Given the description of an element on the screen output the (x, y) to click on. 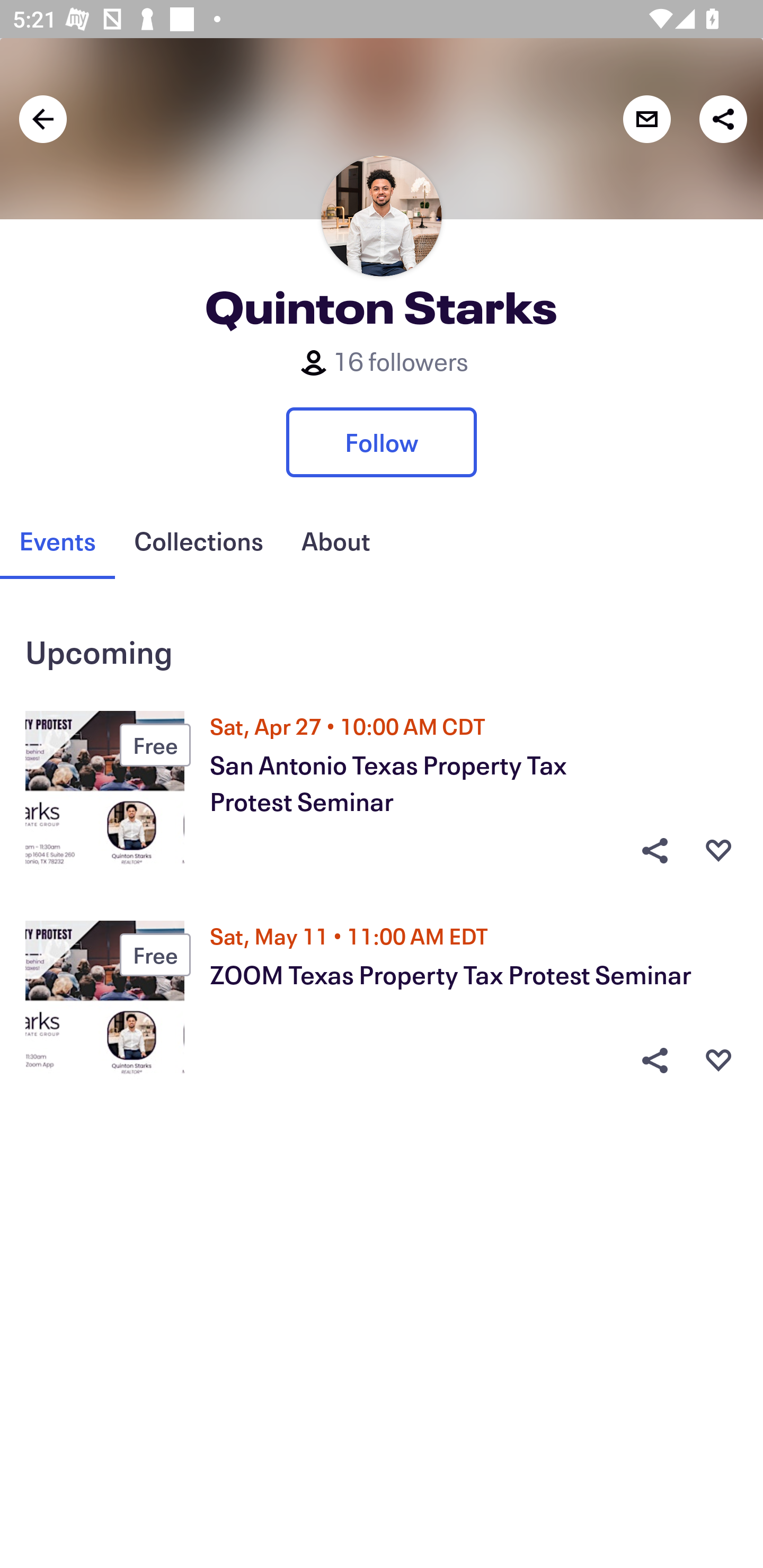
Back navigation arrow (43, 118)
Contact organizer (646, 118)
Share with friends (722, 118)
Follow (381, 441)
Collections (198, 540)
About (335, 540)
Share Event (654, 850)
Like event (718, 850)
Share Event (654, 1060)
Like event (718, 1060)
